Given the description of an element on the screen output the (x, y) to click on. 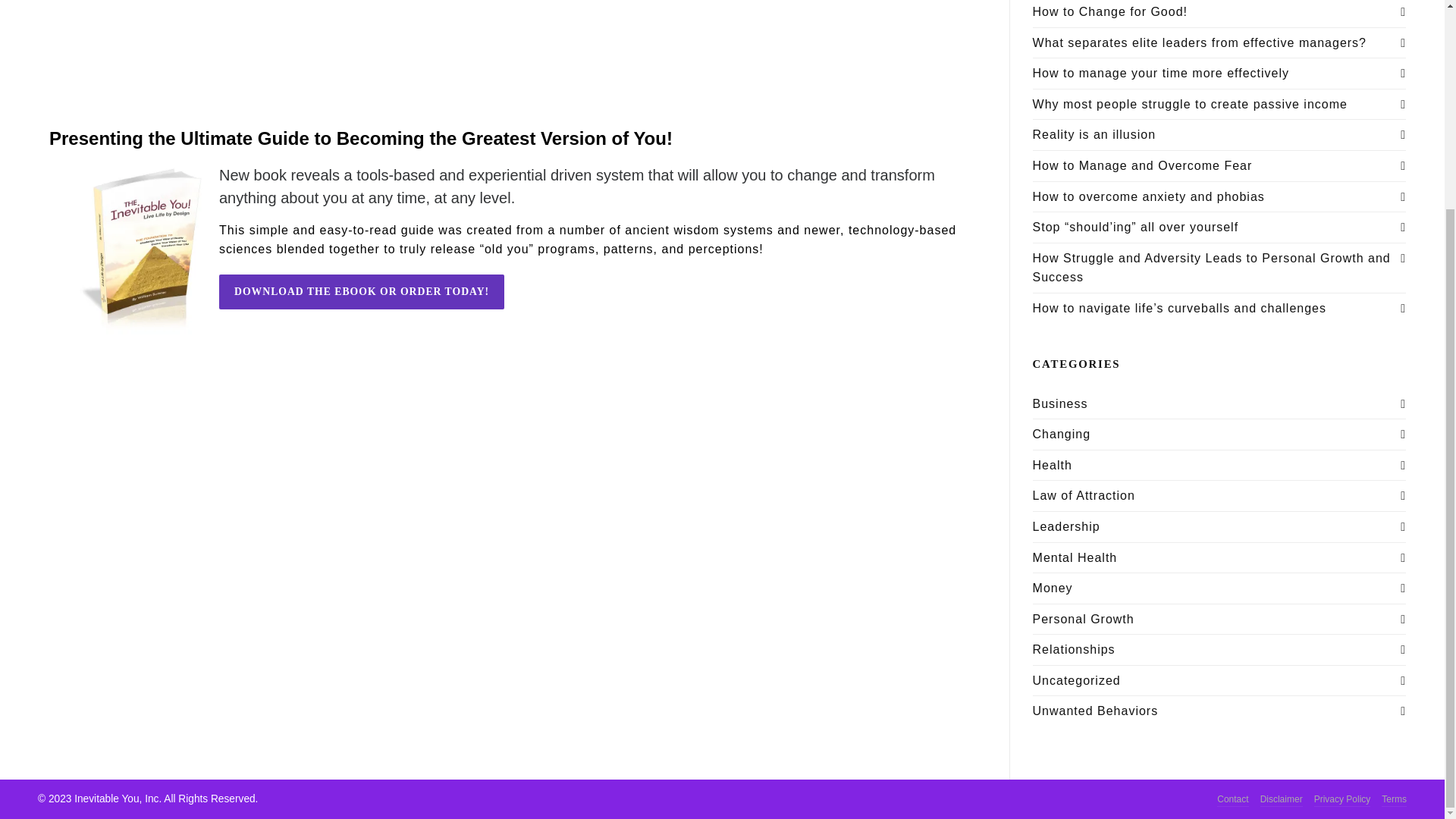
Mental Health (1075, 556)
Personal Growth (1083, 618)
Relationships (1073, 649)
DOWNLOAD THE EBOOK OR ORDER TODAY! (361, 291)
Leadership (1066, 526)
How to Change for Good! (1219, 12)
Money (1052, 587)
How to overcome anxiety and phobias (1219, 197)
How to manage your time more effectively (1219, 73)
